Given the description of an element on the screen output the (x, y) to click on. 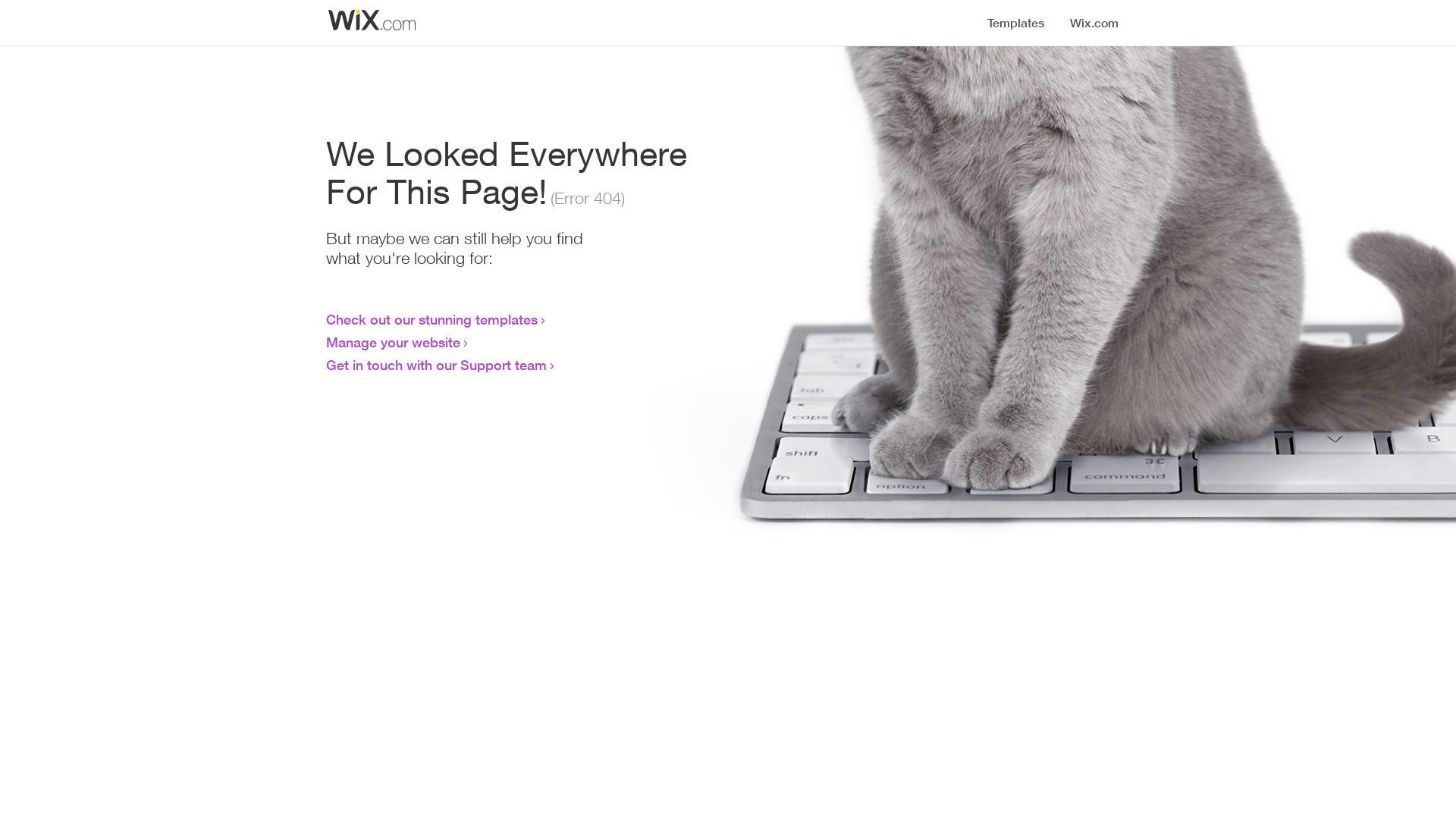
Check out our stunning templates Element type: text (431, 318)
Manage your website Element type: text (393, 341)
Get in touch with our Support team Element type: text (436, 364)
